Given the description of an element on the screen output the (x, y) to click on. 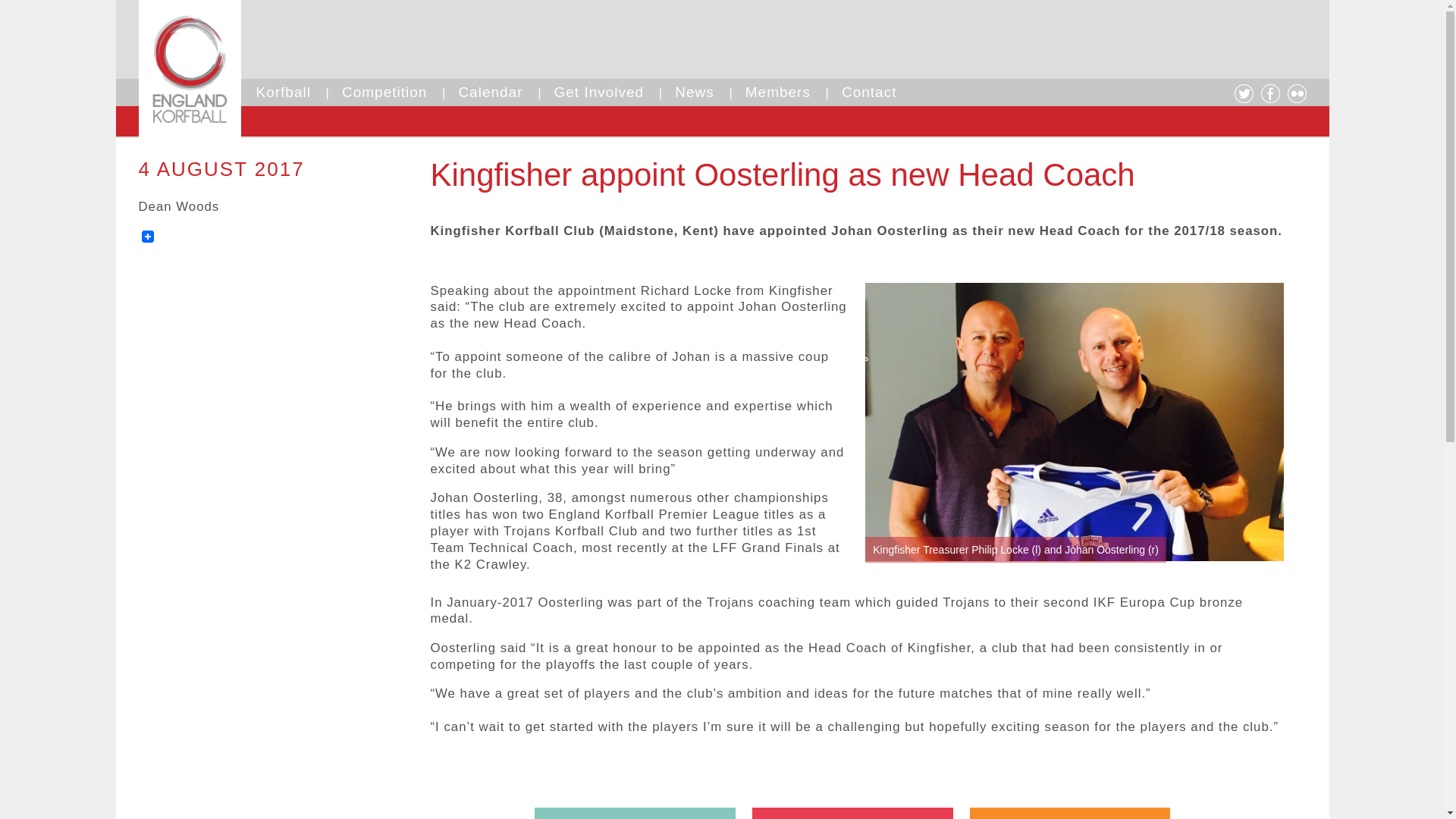
Get Involved (599, 91)
Search (93, 11)
Members (777, 91)
Contact (868, 91)
Competition (384, 91)
Korfball (283, 91)
News (694, 91)
Calendar (490, 91)
